Given the description of an element on the screen output the (x, y) to click on. 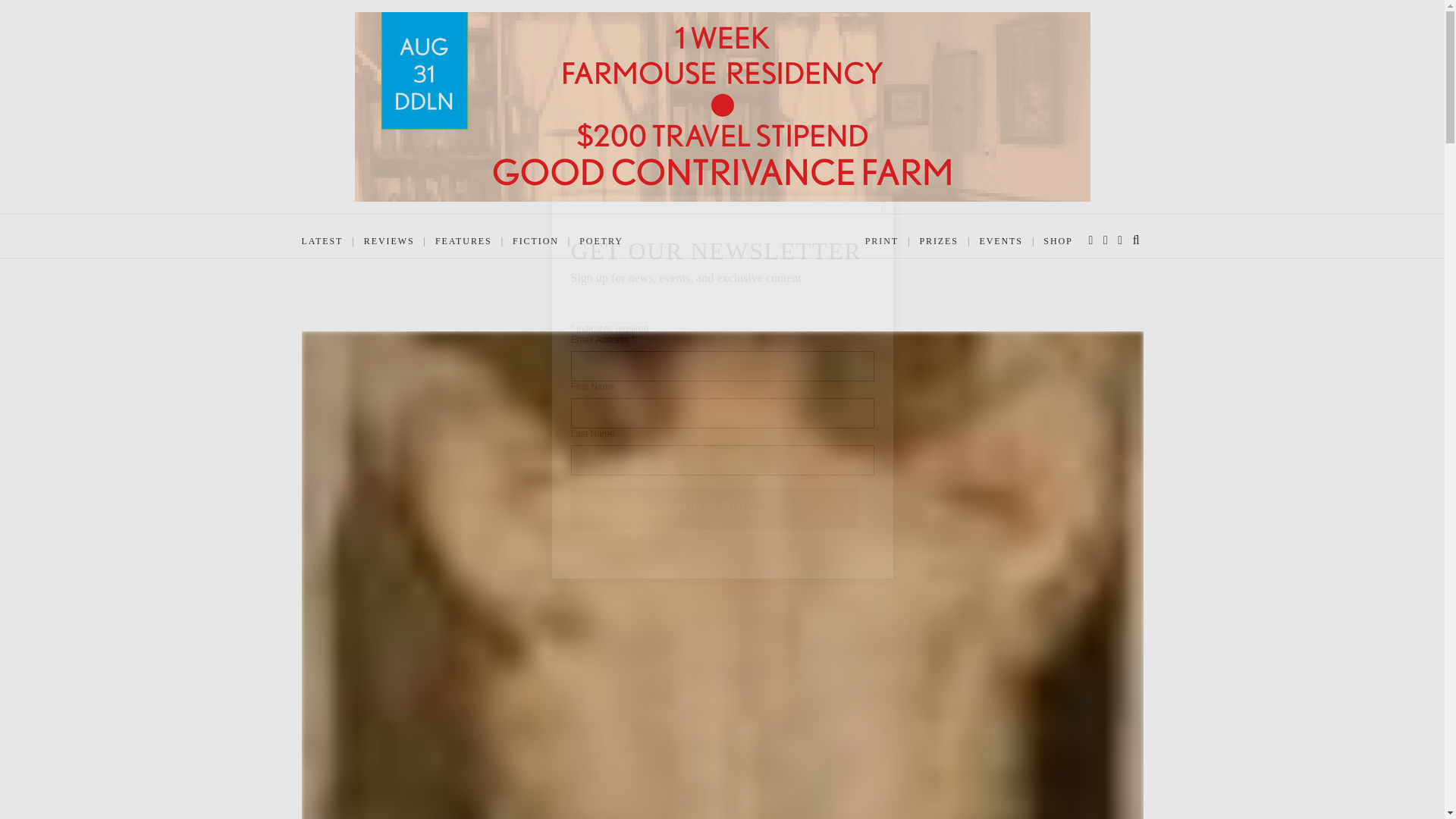
SHOP (1057, 240)
Subscribe (714, 507)
PRIZES (938, 240)
PRINT (881, 240)
EVENTS (1000, 240)
REVIEWS (389, 240)
LATEST (322, 240)
FEATURES (463, 240)
FICTION (535, 240)
POETRY (601, 240)
